Given the description of an element on the screen output the (x, y) to click on. 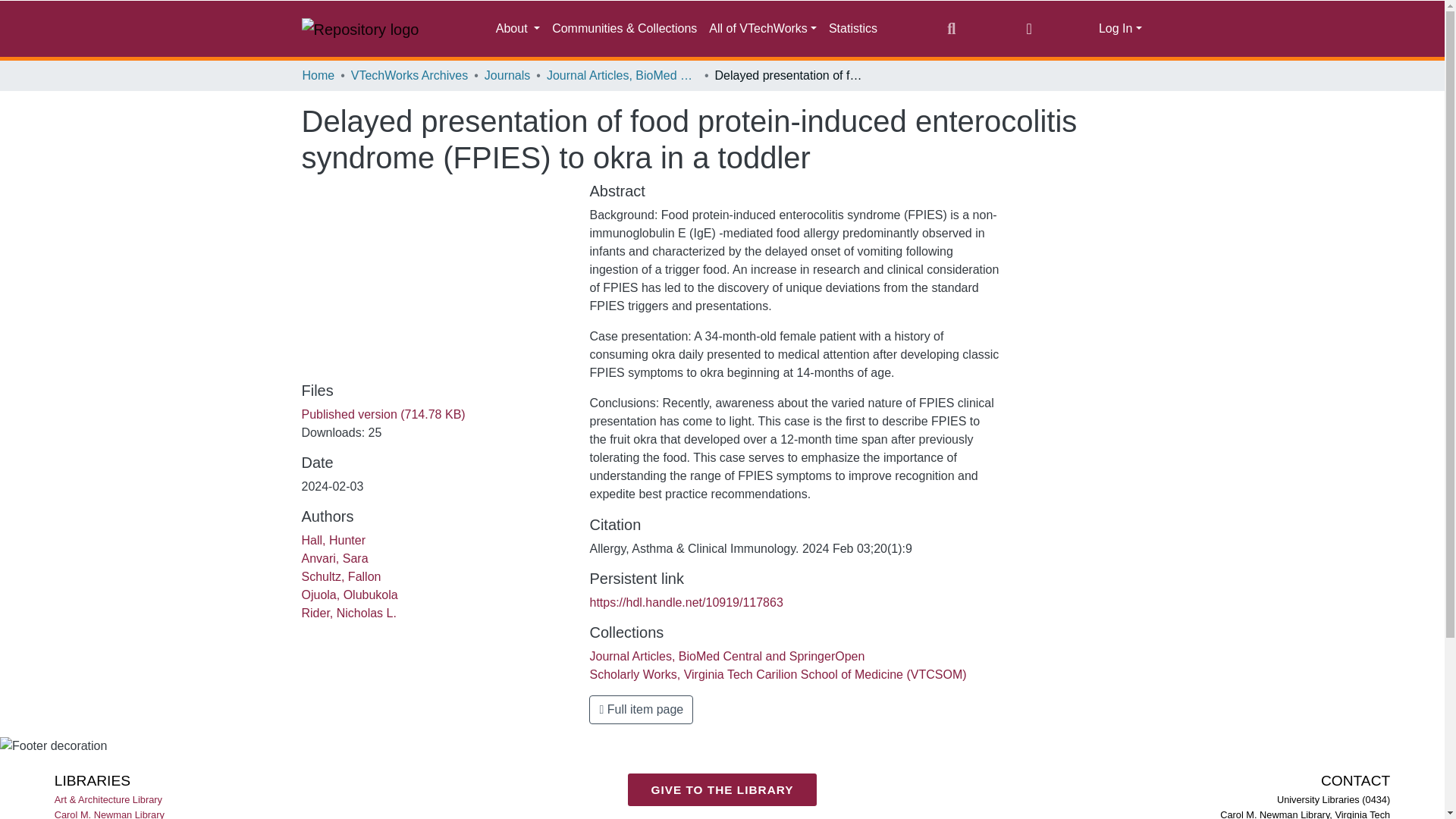
All of VTechWorks (762, 28)
Hall, Hunter (333, 540)
About (517, 28)
Carol M. Newman Library (111, 813)
Statistics (852, 28)
Rider, Nicholas L. (348, 612)
Full item page (641, 709)
VTechWorks Archives (408, 75)
Schultz, Fallon (341, 576)
Home (317, 75)
Journal Articles, BioMed Central and SpringerOpen (622, 75)
Search (951, 28)
Anvari, Sara (334, 558)
Ojuola, Olubukola (349, 594)
Log In (1119, 28)
